Given the description of an element on the screen output the (x, y) to click on. 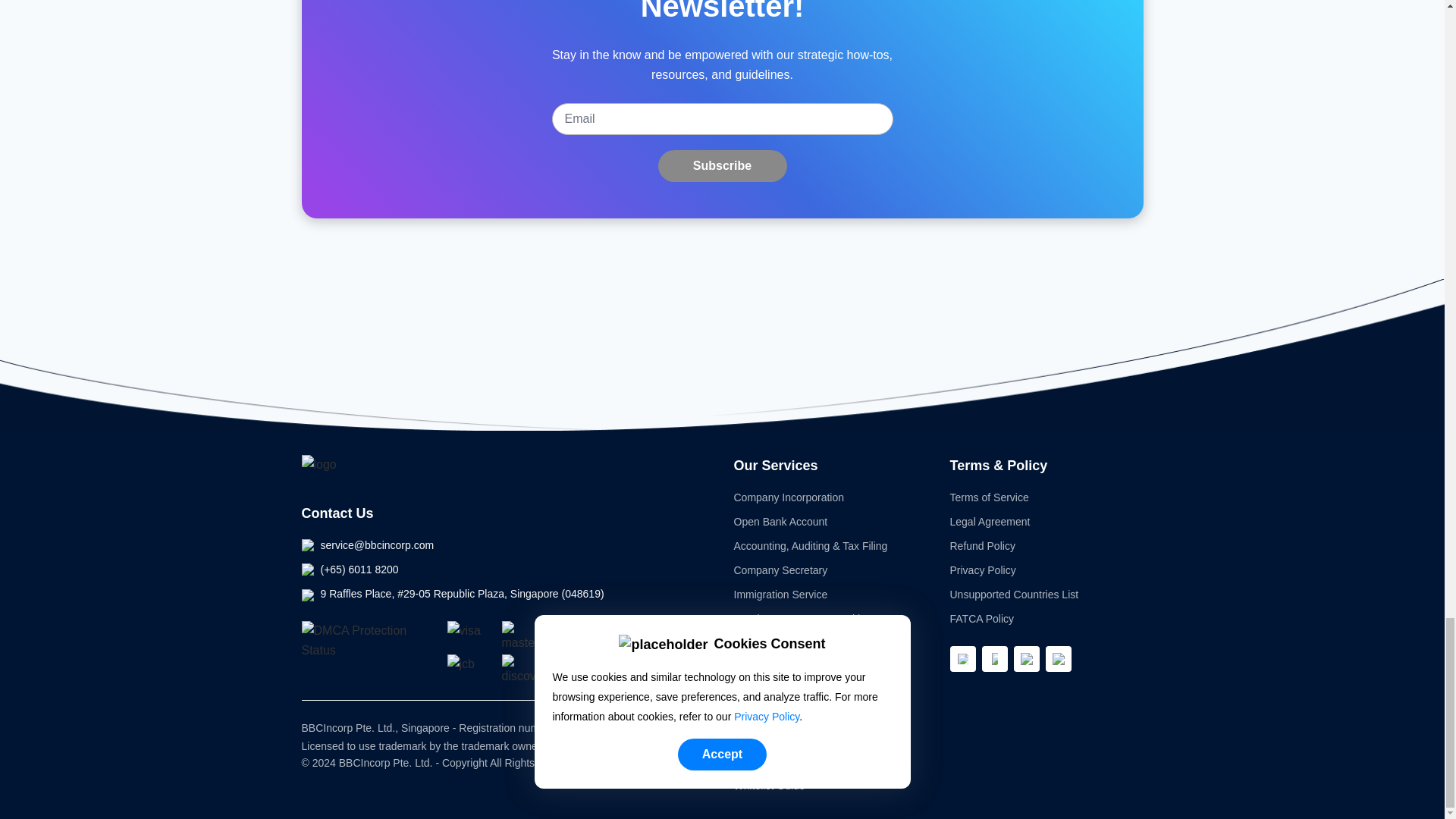
Order Process (767, 761)
Legal Agreement (989, 521)
Whitelist Guide (769, 785)
Contact Us (337, 513)
Payment Guideline (778, 712)
Refund Policy (981, 545)
Merchant Account Consulting (802, 618)
Company Secretary (780, 570)
Become Our Partner (782, 688)
Make Payment (769, 736)
Immigration Service (780, 594)
Open Bank Account (780, 521)
Terms of Service (988, 497)
Company Incorporation (788, 497)
Subscribe (722, 165)
